Given the description of an element on the screen output the (x, y) to click on. 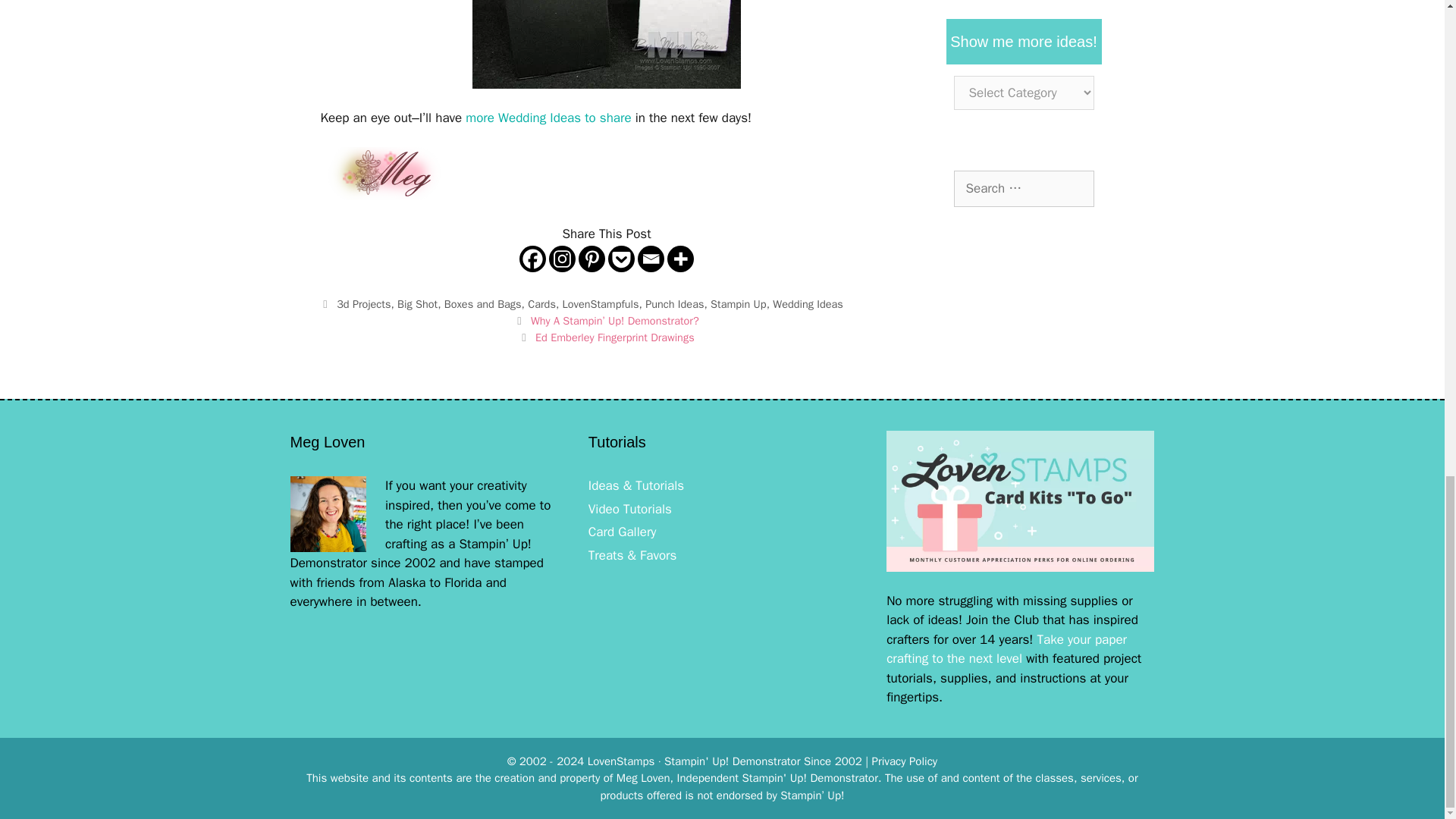
Big Shot (417, 304)
3d Projects (363, 304)
Cards (541, 304)
more Wedding Ideas to share (547, 117)
Boxes and Bags (482, 304)
